Given the description of an element on the screen output the (x, y) to click on. 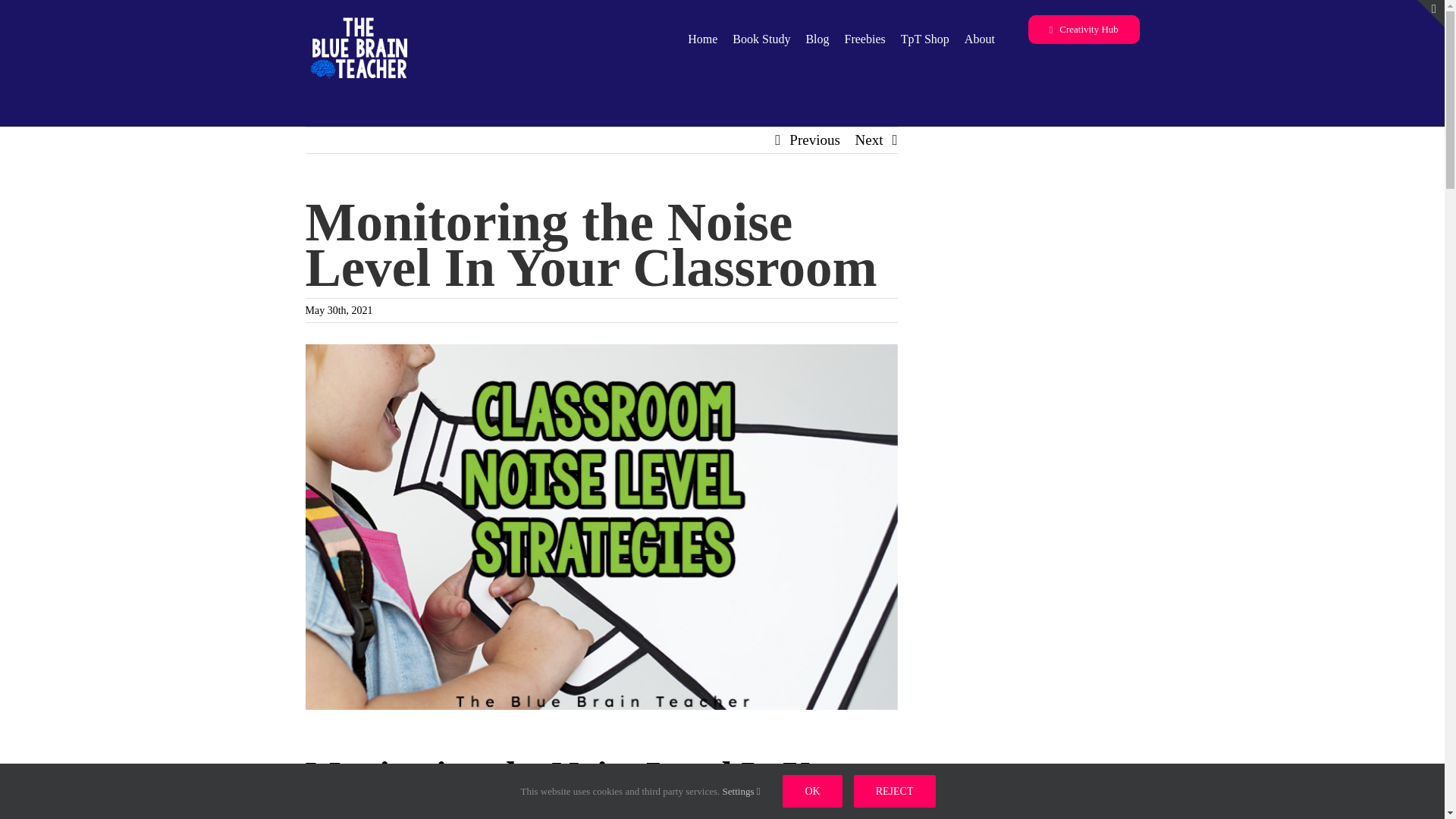
TpT Shop (925, 39)
Home (702, 39)
Blog (816, 39)
logo 3 (360, 55)
About (978, 39)
Creativity Hub (1083, 29)
Previous (814, 140)
Freebies (864, 39)
Book Study (761, 39)
Next (869, 140)
